Given the description of an element on the screen output the (x, y) to click on. 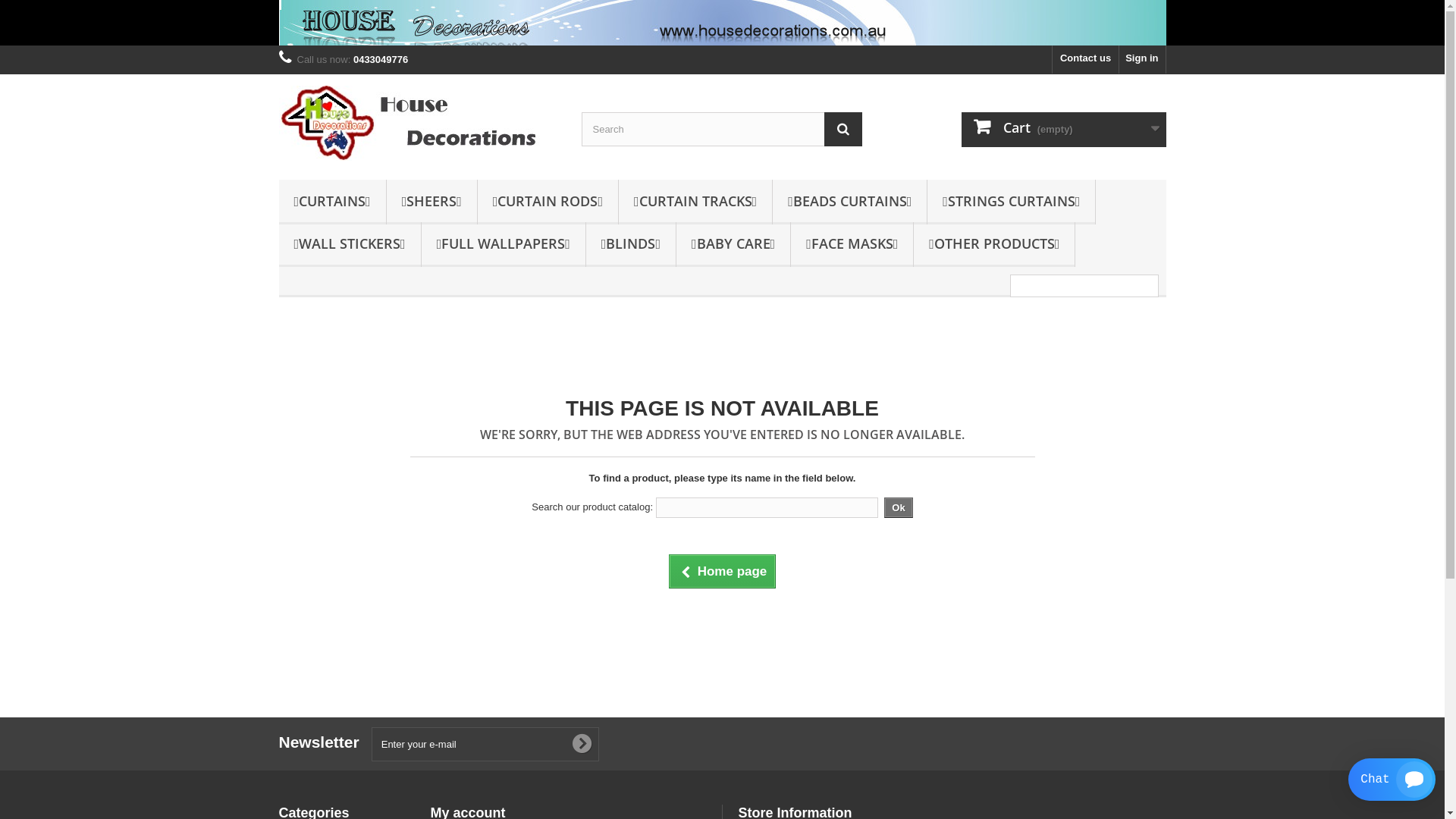
Sign in Element type: text (1141, 59)
Smartsupp widget button Element type: hover (1391, 779)
House Decorations Element type: hover (419, 122)
Cart (empty) Element type: text (1063, 129)
Contact us Element type: text (1085, 59)
Ok Element type: text (898, 507)
Home page Element type: text (722, 571)
